Given the description of an element on the screen output the (x, y) to click on. 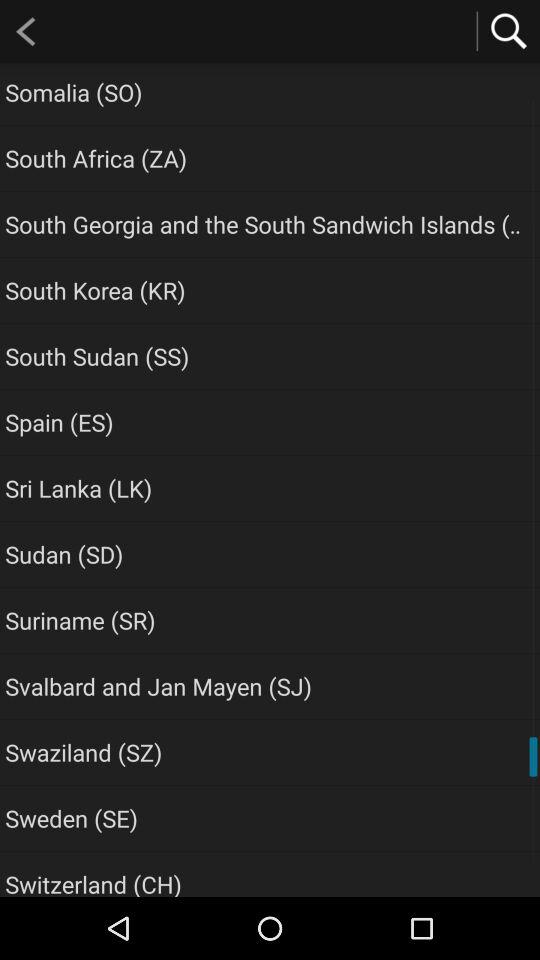
tap icon above the swaziland (sz) icon (158, 686)
